Given the description of an element on the screen output the (x, y) to click on. 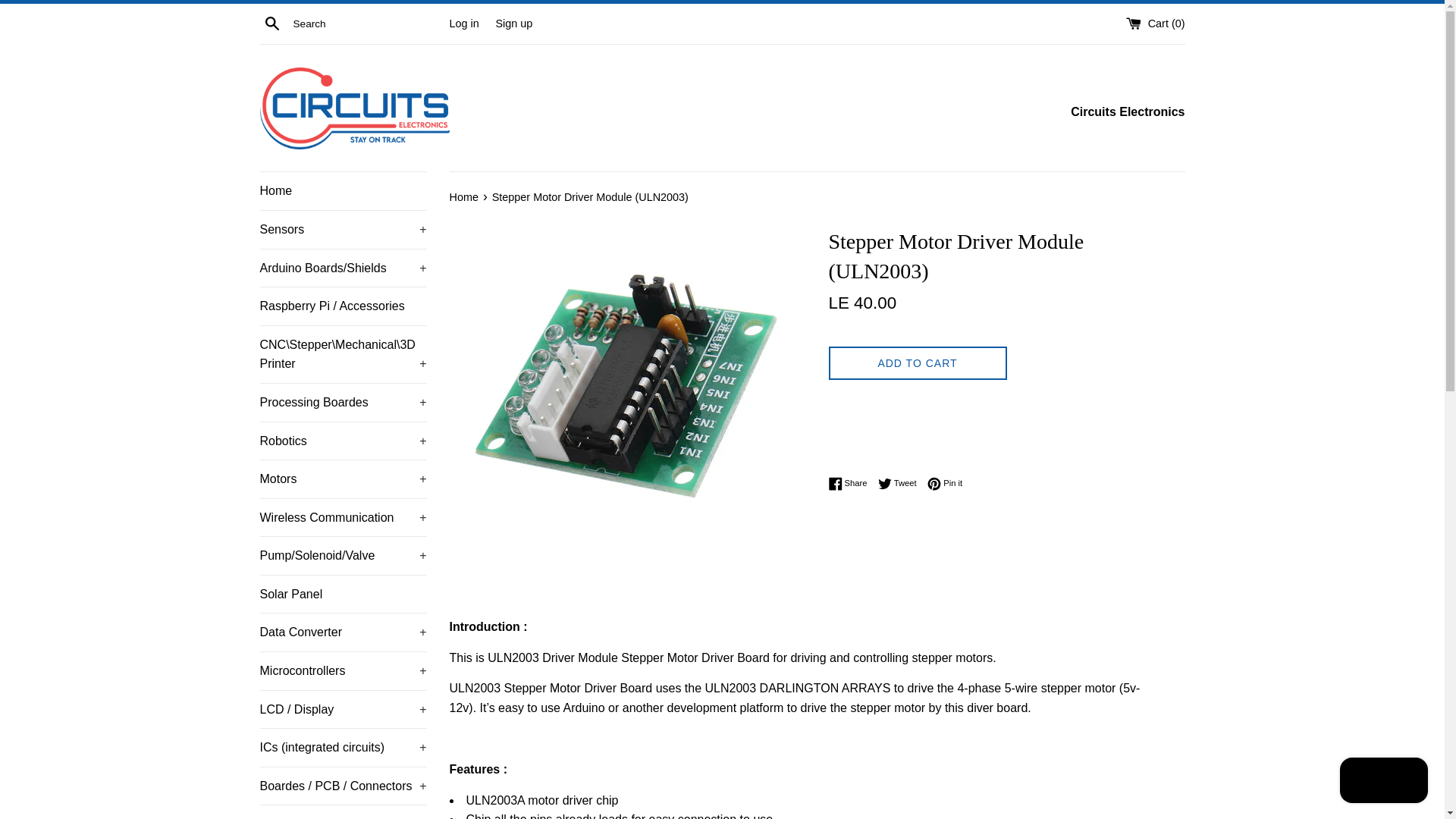
Search (271, 22)
Back to the frontpage (464, 196)
Tweet on Twitter (900, 483)
Pin on Pinterest (944, 483)
Home (342, 190)
Share on Facebook (851, 483)
Sign up (513, 22)
Shopify online store chat (1383, 781)
Log in (463, 22)
